Given the description of an element on the screen output the (x, y) to click on. 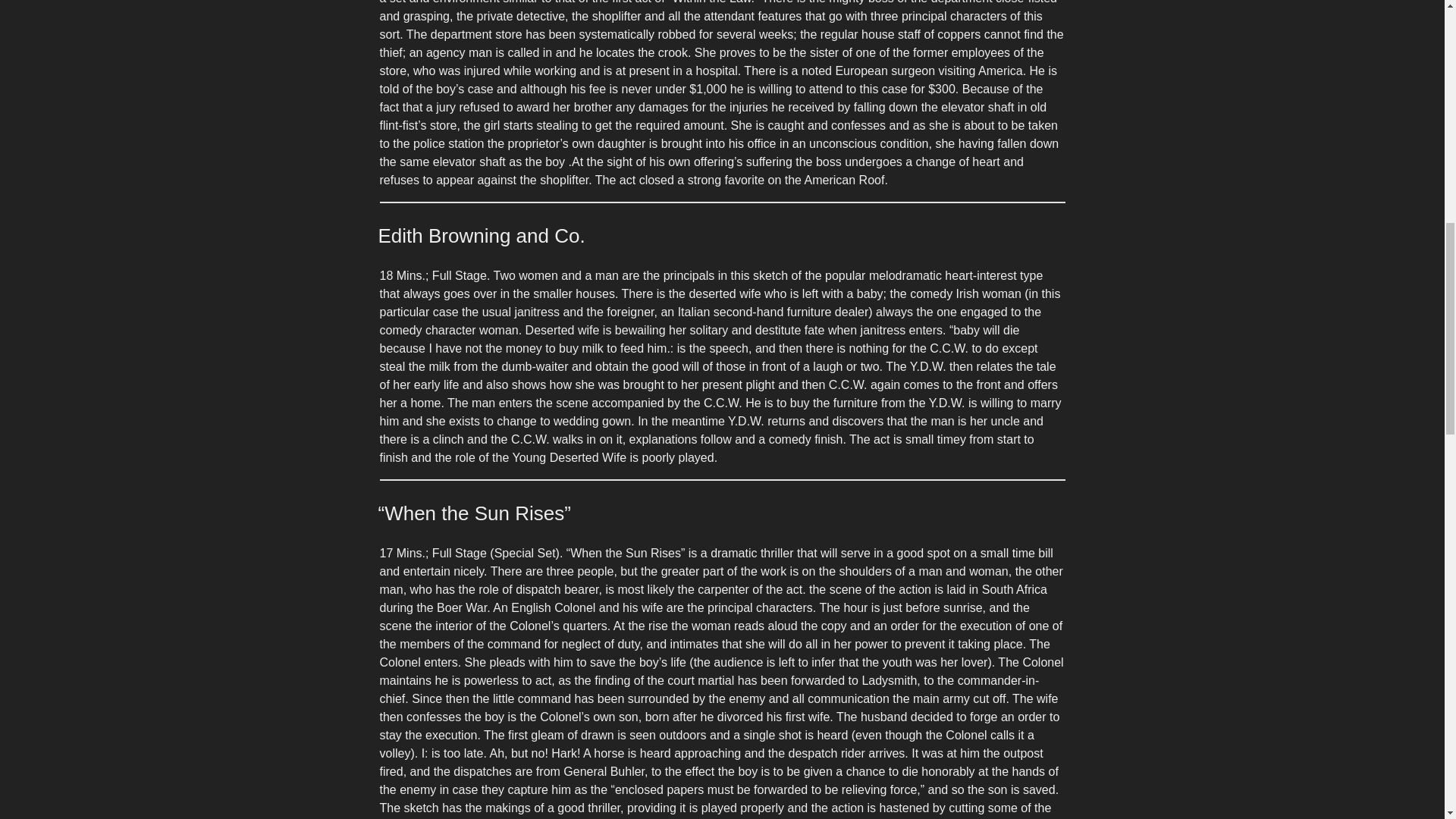
Edith Browning and Co. (481, 235)
